Given the description of an element on the screen output the (x, y) to click on. 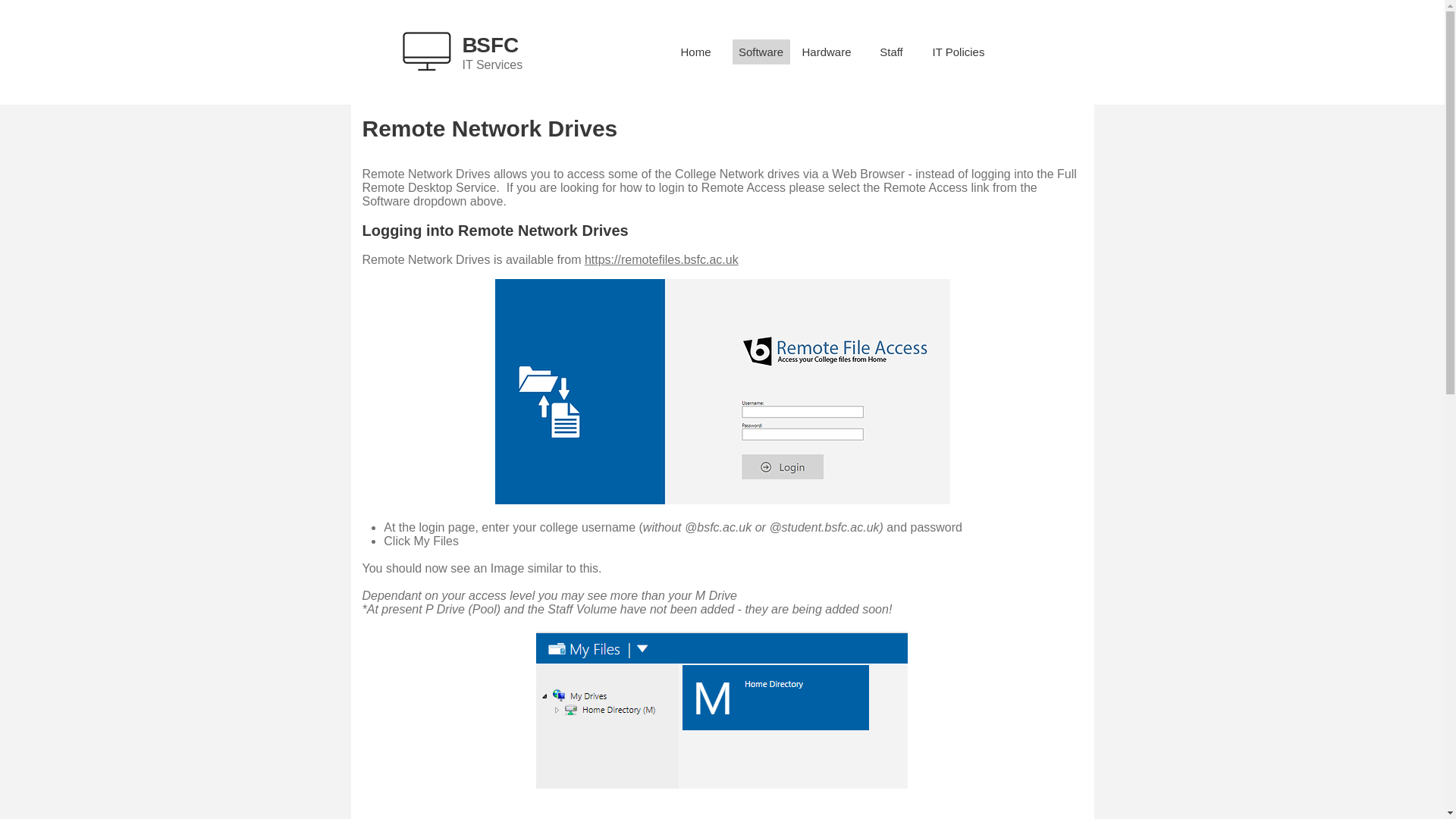
Hardware (826, 51)
IT Policies (956, 51)
Home (695, 51)
Software (761, 51)
Staff (891, 51)
